Given the description of an element on the screen output the (x, y) to click on. 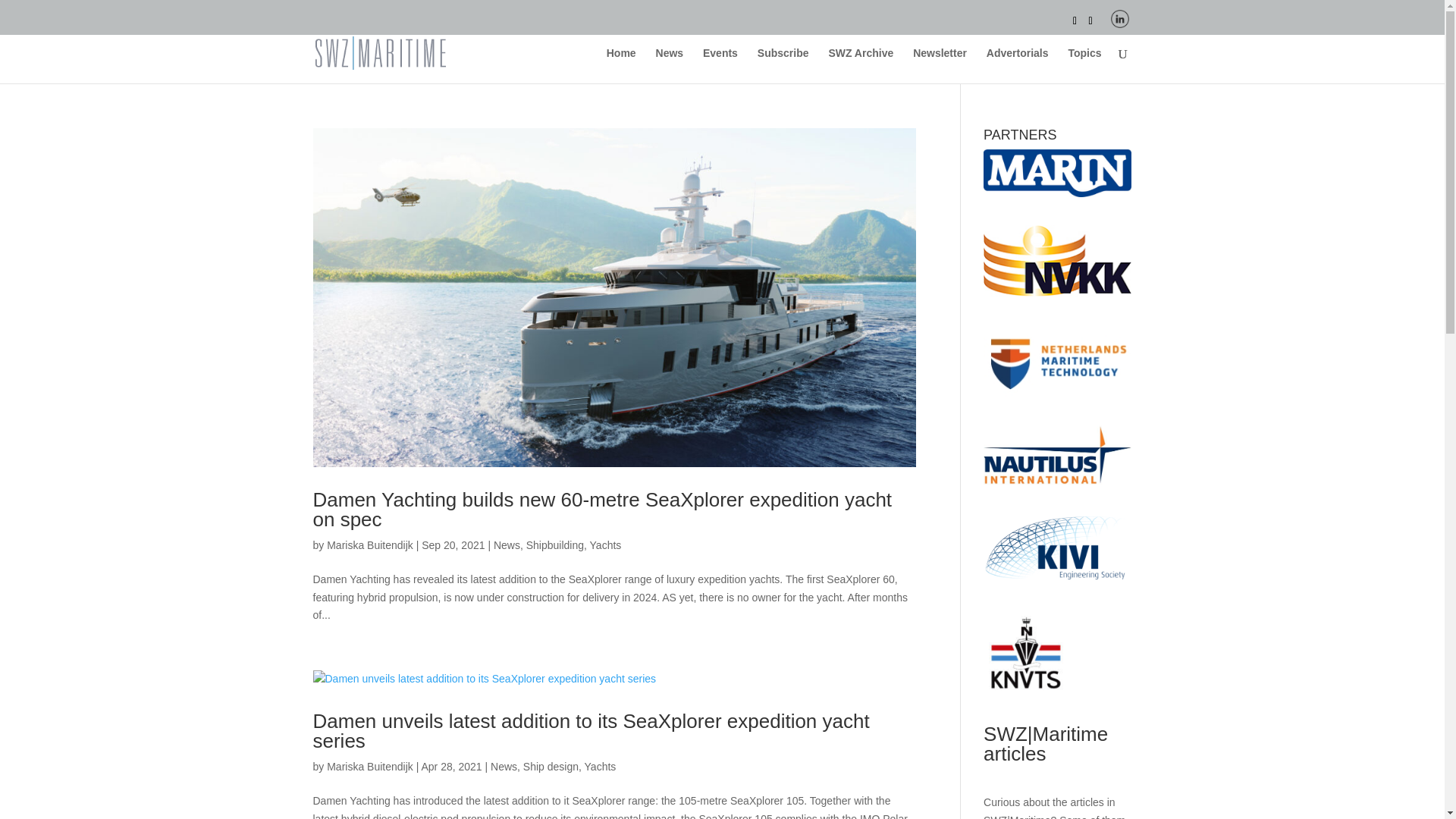
PARTNERS (1057, 173)
Posts by Mariska Buitendijk (369, 544)
Events (720, 65)
Ship design (550, 766)
Shipbuilding (554, 544)
Subscribe (783, 65)
Newsletter (939, 65)
Yachts (605, 544)
